Given the description of an element on the screen output the (x, y) to click on. 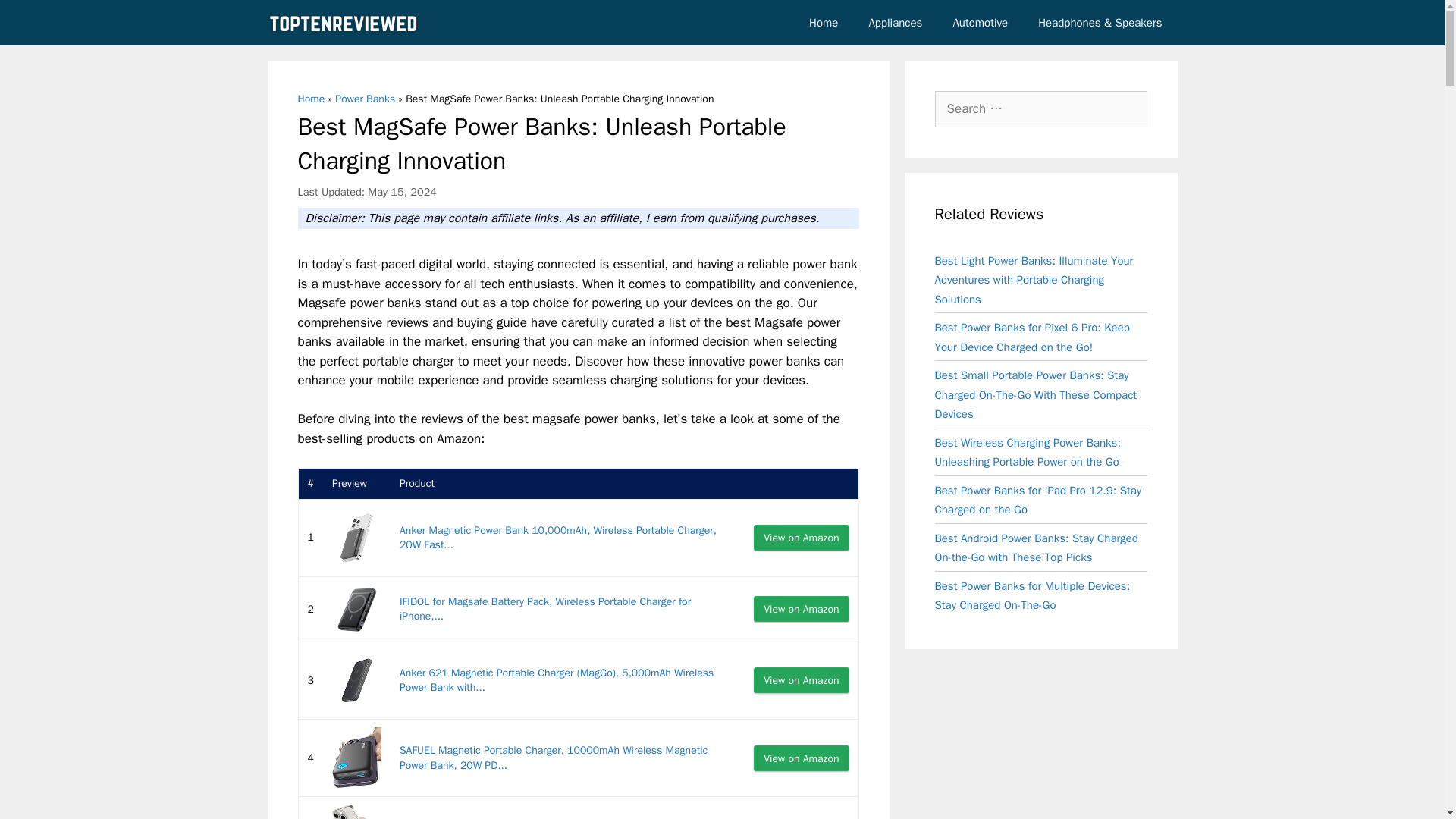
Home (310, 98)
View on Amazon (801, 537)
View on Amazon (801, 679)
View on Amazon (801, 537)
Home (823, 22)
Appliances (895, 22)
Automotive (980, 22)
View on Amazon (801, 608)
View on Amazon (801, 679)
View on Amazon (801, 608)
TopTenReviewed (346, 22)
